Given the description of an element on the screen output the (x, y) to click on. 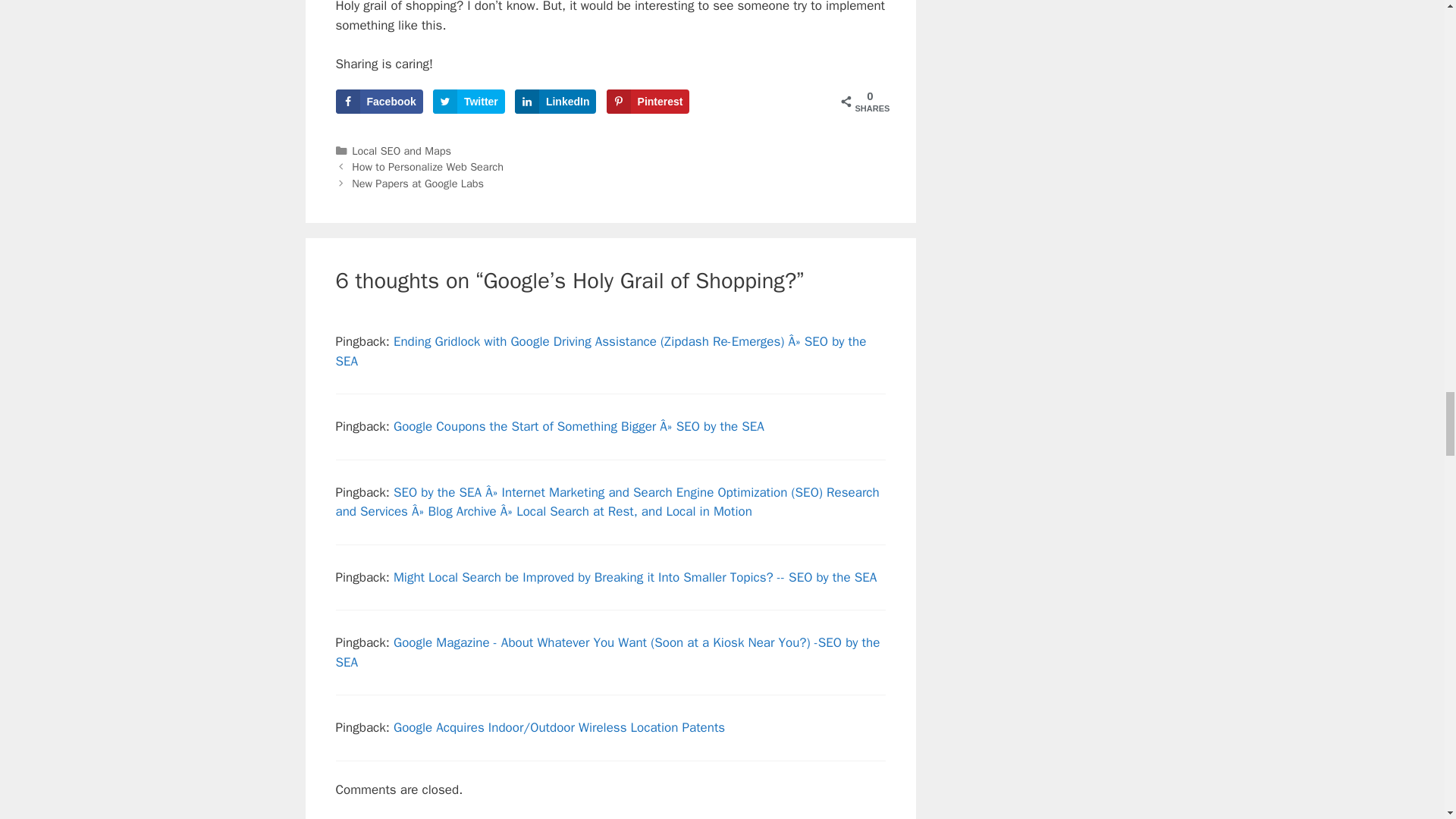
Save to Pinterest (648, 101)
Share on Twitter (468, 101)
How to Personalize Web Search (427, 166)
Share on LinkedIn (555, 101)
New Papers at Google Labs (417, 183)
Share on Facebook (378, 101)
Facebook (378, 101)
Local SEO and Maps (401, 151)
Twitter (468, 101)
LinkedIn (555, 101)
Pinterest (648, 101)
